Given the description of an element on the screen output the (x, y) to click on. 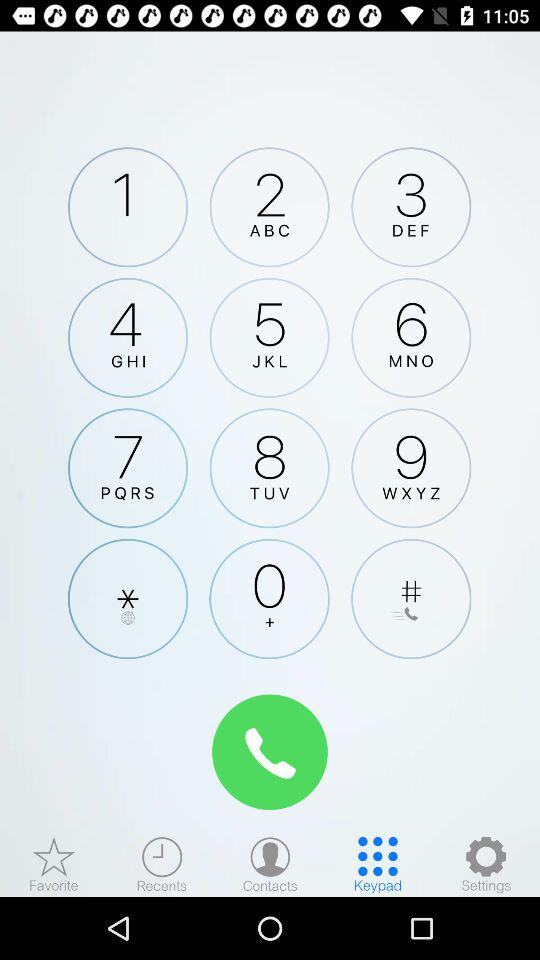
recent calls (161, 864)
